Given the description of an element on the screen output the (x, y) to click on. 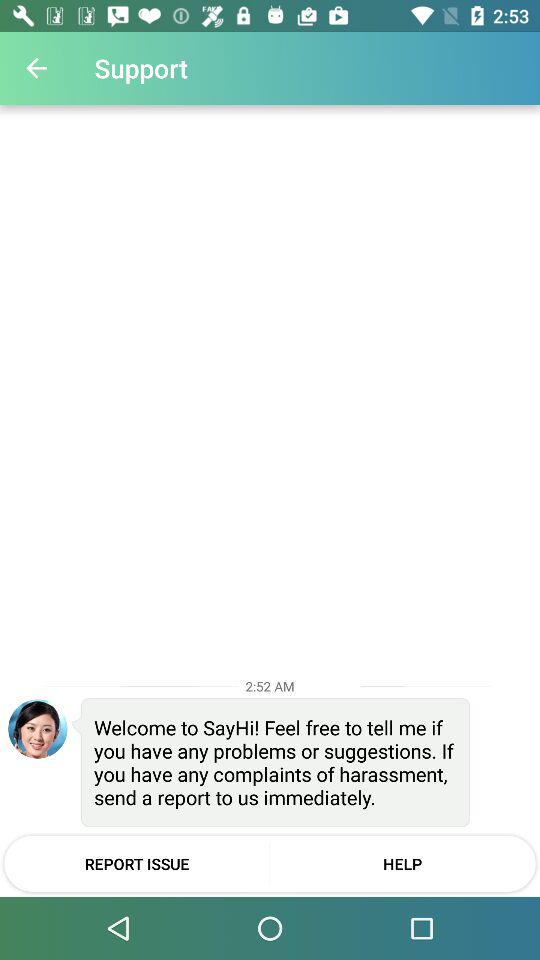
press the item to the left of welcome to sayhi icon (37, 728)
